Given the description of an element on the screen output the (x, y) to click on. 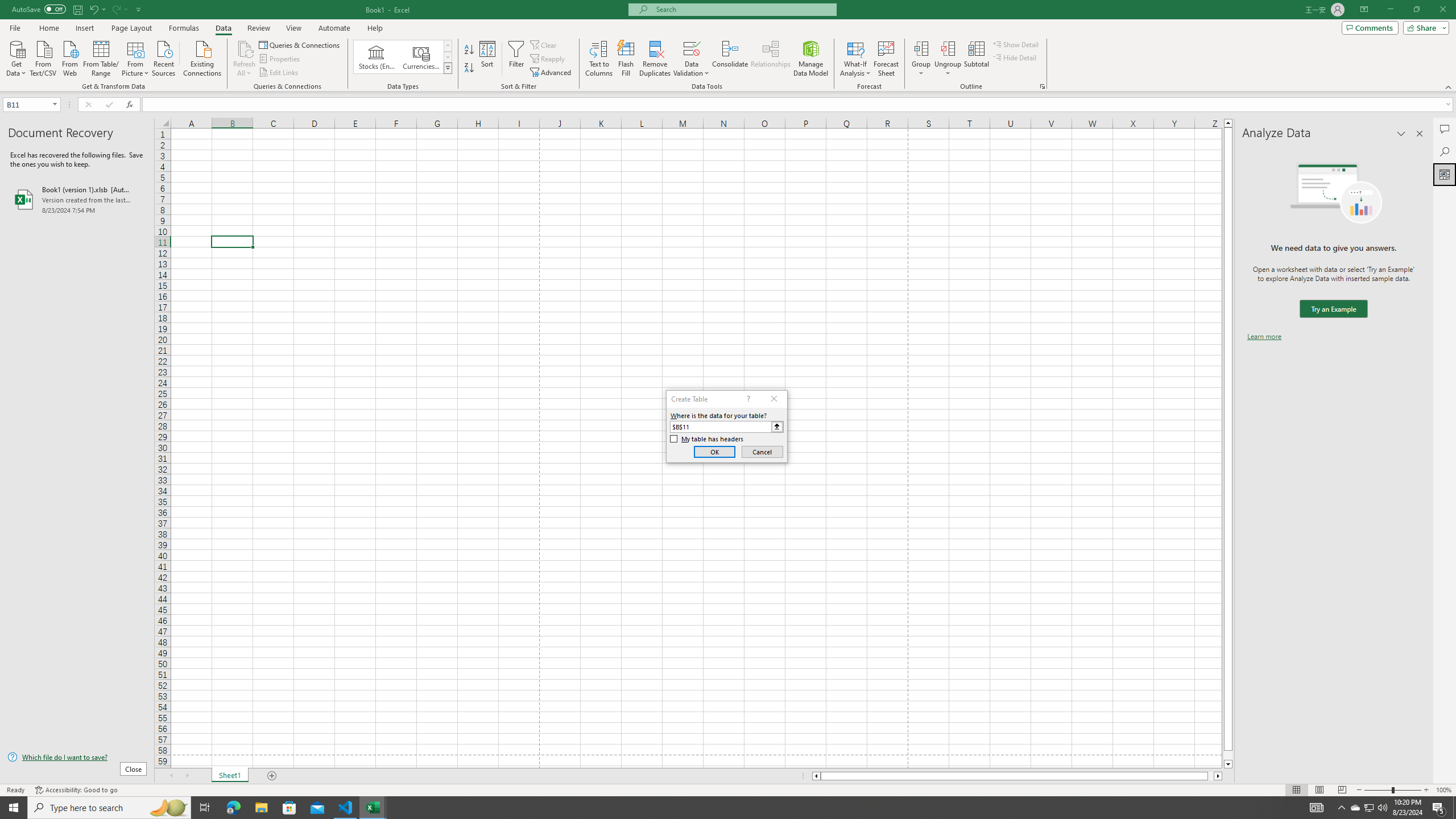
Open (54, 104)
Comments (1369, 27)
We need data to give you answers. Try an Example (1333, 308)
